Given the description of an element on the screen output the (x, y) to click on. 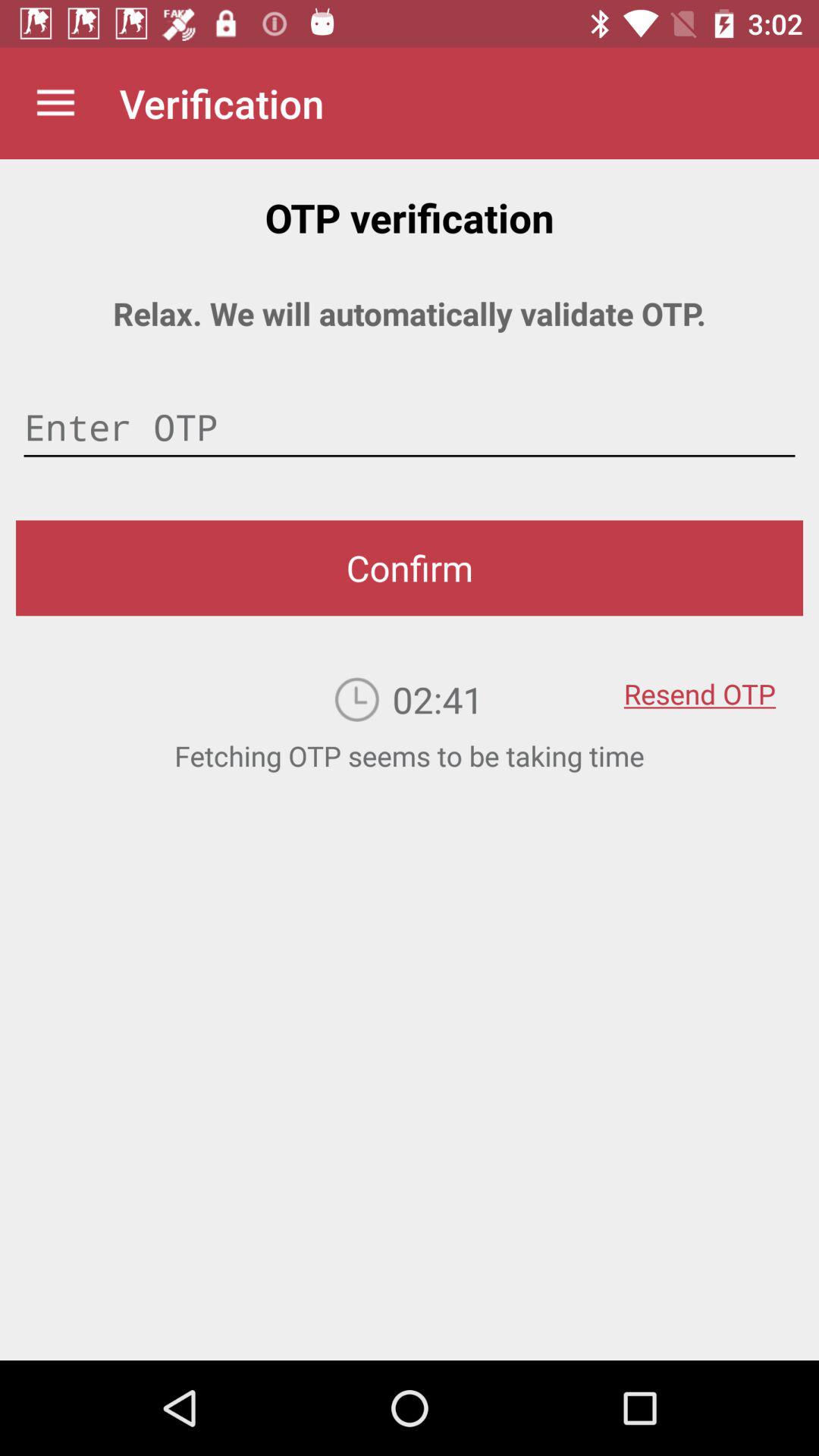
launch the item above relax we will (55, 103)
